Given the description of an element on the screen output the (x, y) to click on. 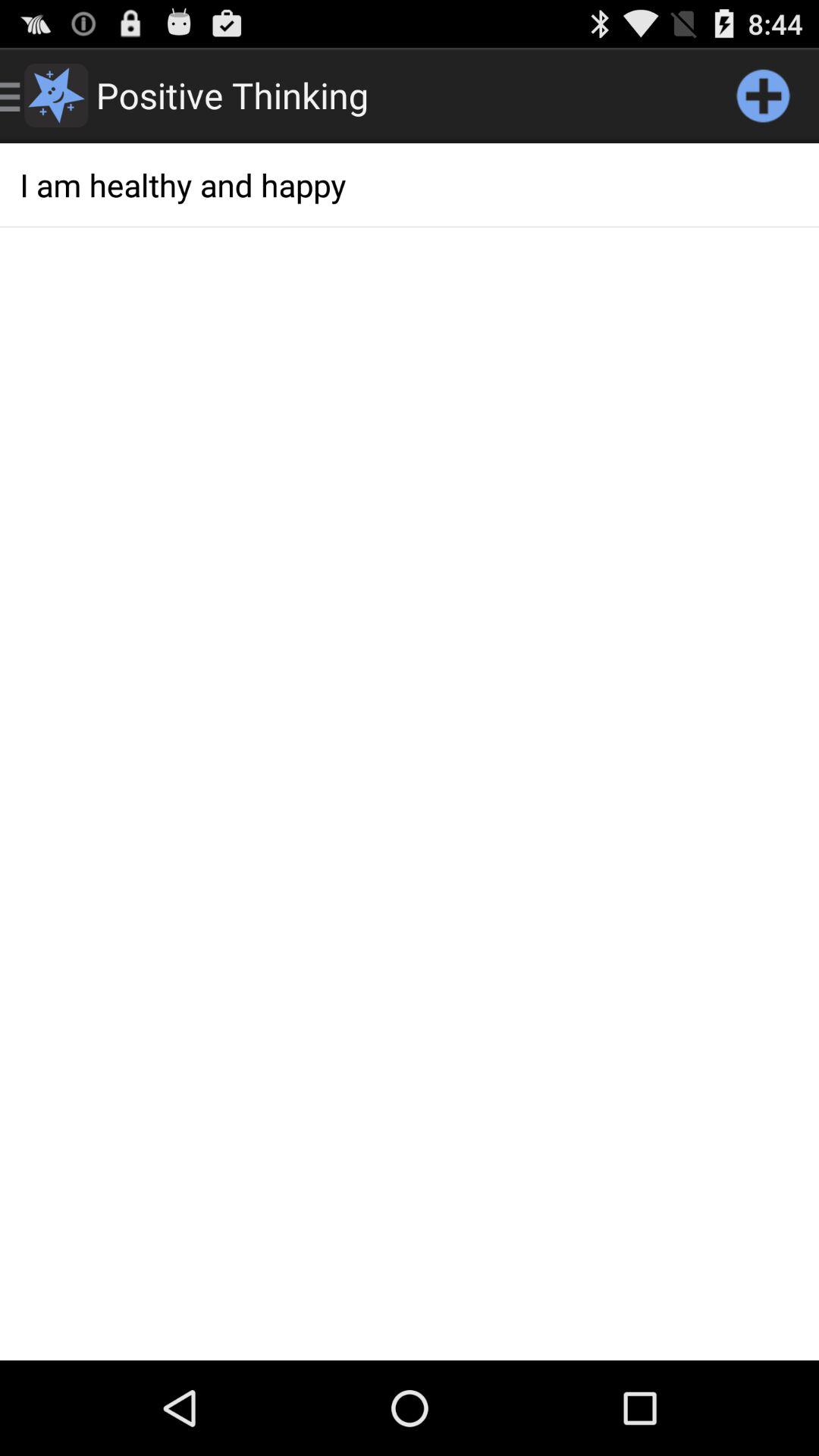
tap icon next to the positive thinking (763, 95)
